Given the description of an element on the screen output the (x, y) to click on. 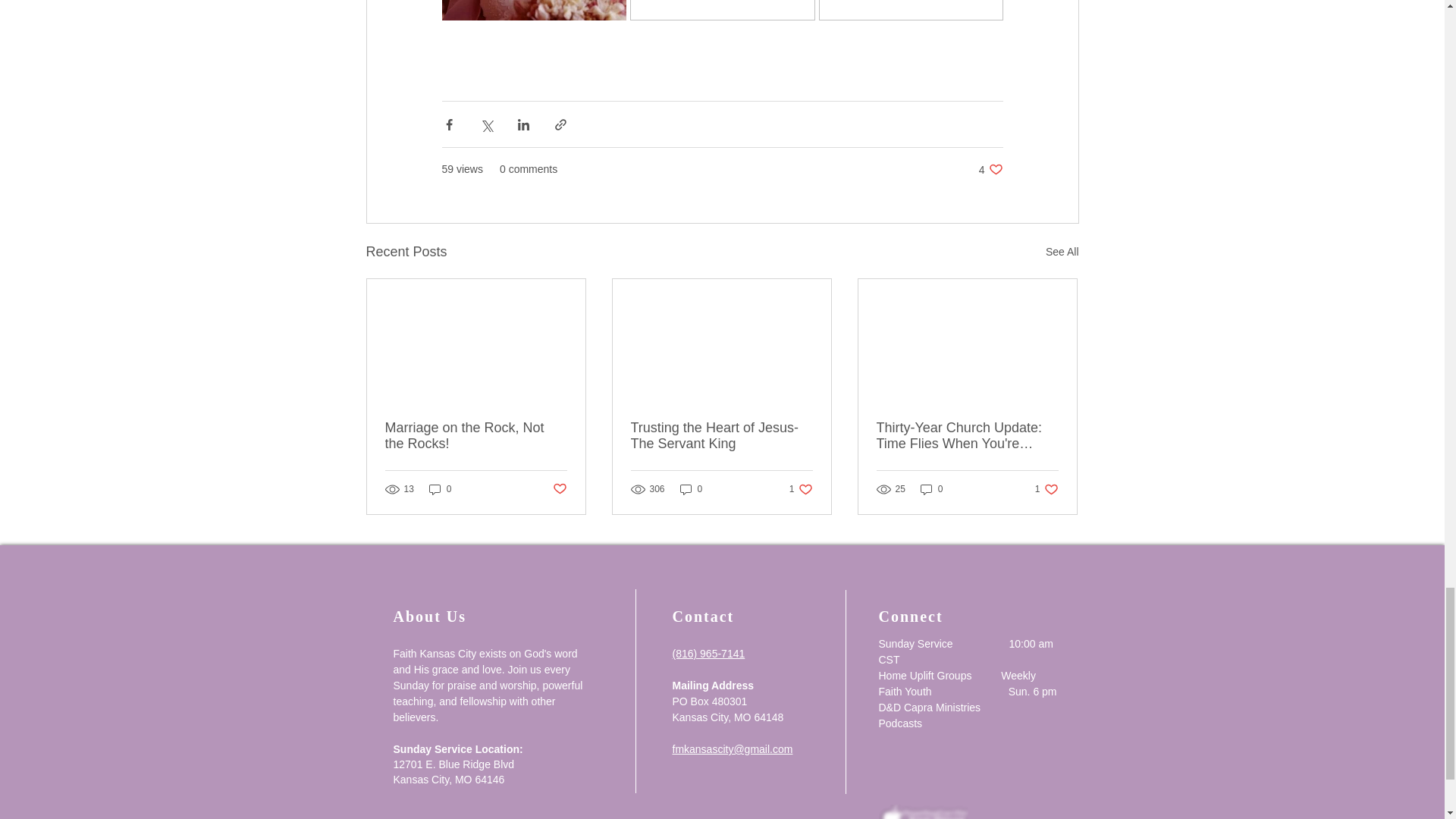
Trusting the Heart of Jesus- The Servant King (800, 489)
0 (721, 436)
0 (691, 489)
See All (440, 489)
Post not marked as liked (1061, 251)
Marriage on the Rock, Not the Rocks! (990, 169)
0 (558, 488)
